Given the description of an element on the screen output the (x, y) to click on. 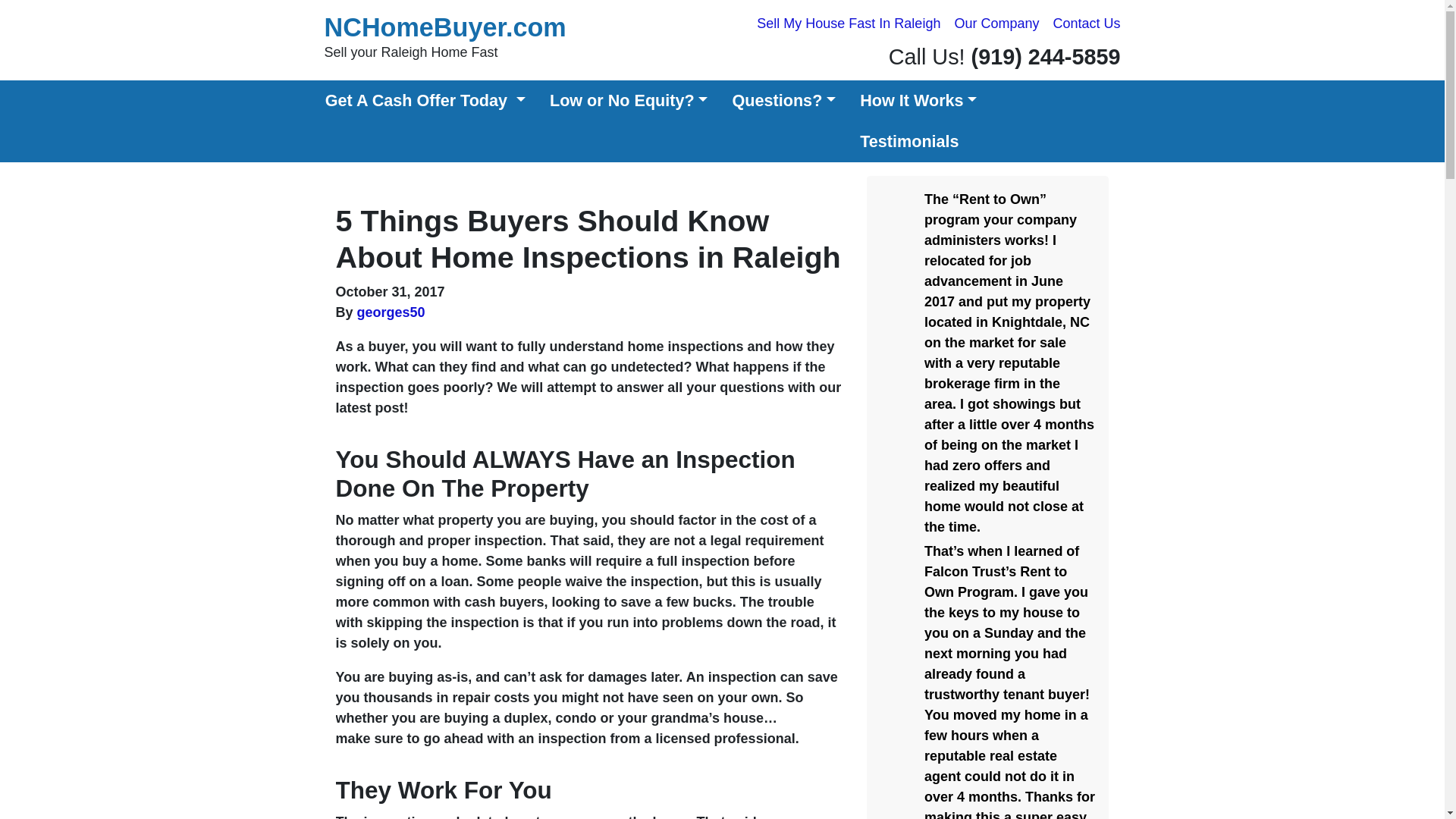
Sell My House Fast In Raleigh (848, 23)
How It Works (917, 100)
Get A Cash Offer Today  (425, 100)
Testimonials (917, 141)
Low or No Equity? (628, 100)
Testimonials (917, 141)
Questions? (783, 100)
Low or No Equity? (628, 100)
Questions? (783, 100)
How It Works (917, 100)
